Given the description of an element on the screen output the (x, y) to click on. 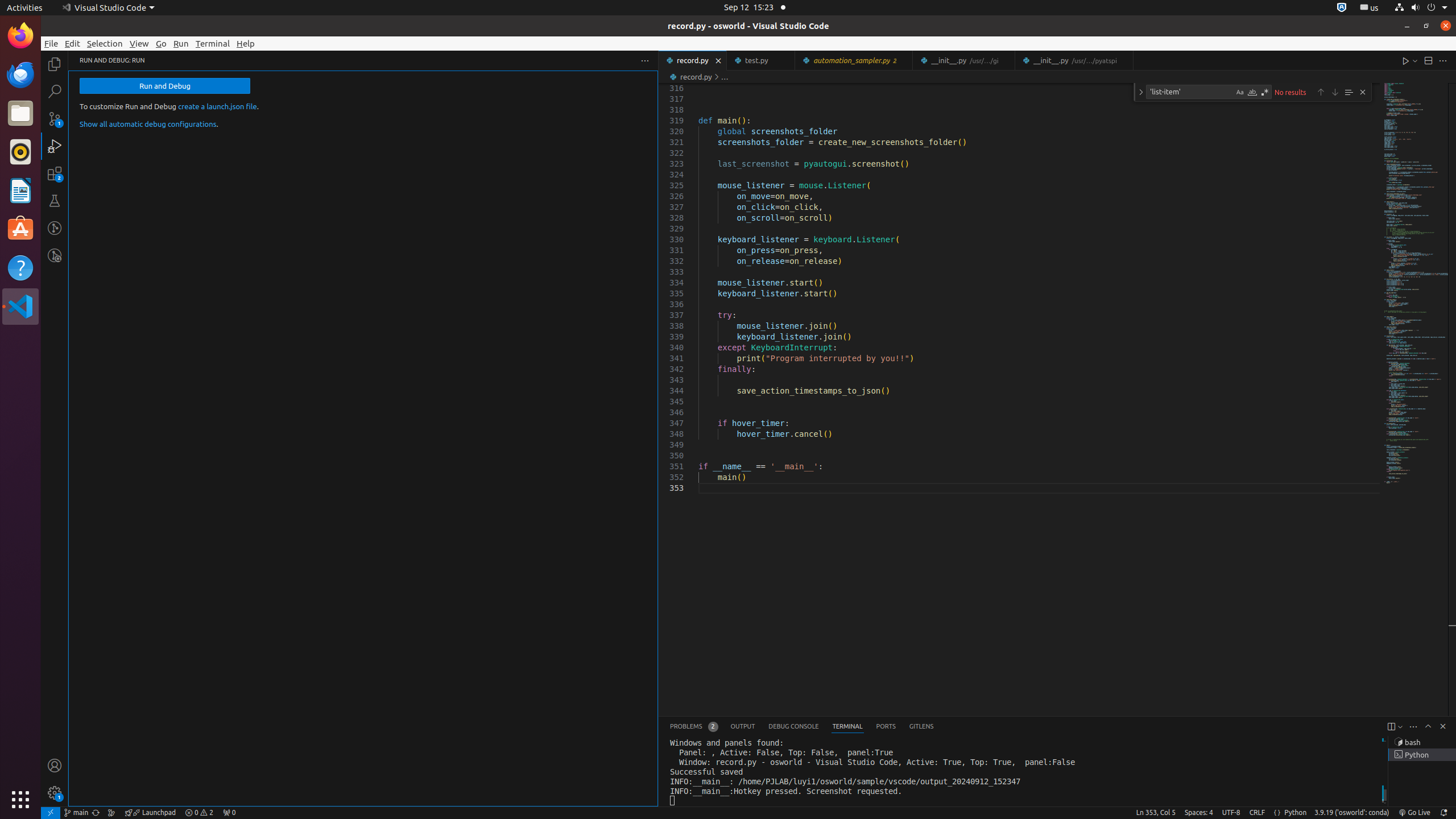
Maximize Panel Size Element type: check-box (1427, 726)
remote Element type: push-button (50, 812)
